Given the description of an element on the screen output the (x, y) to click on. 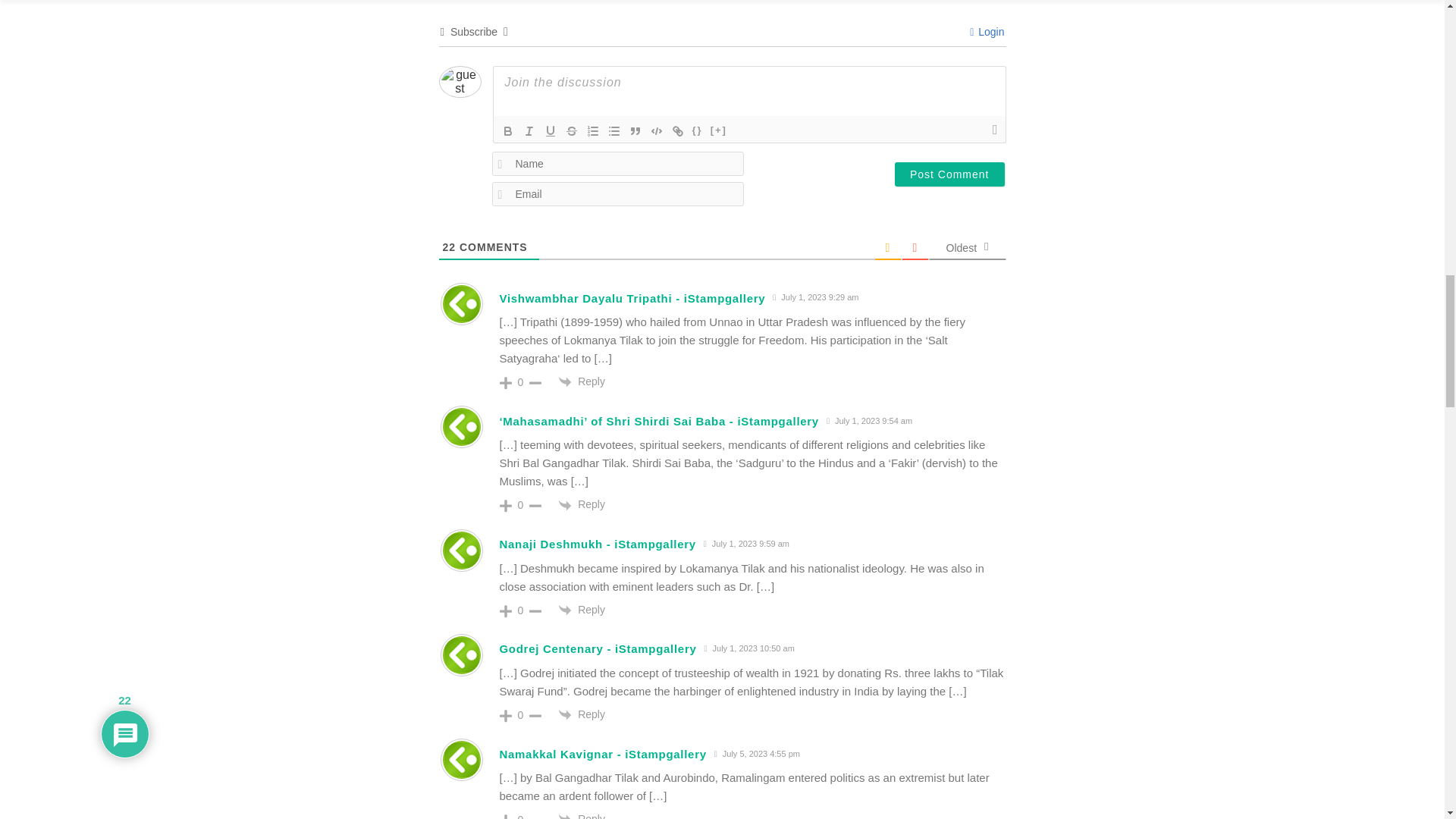
Ordered List (593, 131)
Code Block (656, 131)
Bold (507, 131)
Blockquote (635, 131)
Source Code (697, 131)
Link (677, 131)
Unordered List (614, 131)
Post Comment (949, 174)
Strike (571, 131)
Italic (529, 131)
Underline (550, 131)
